Given the description of an element on the screen output the (x, y) to click on. 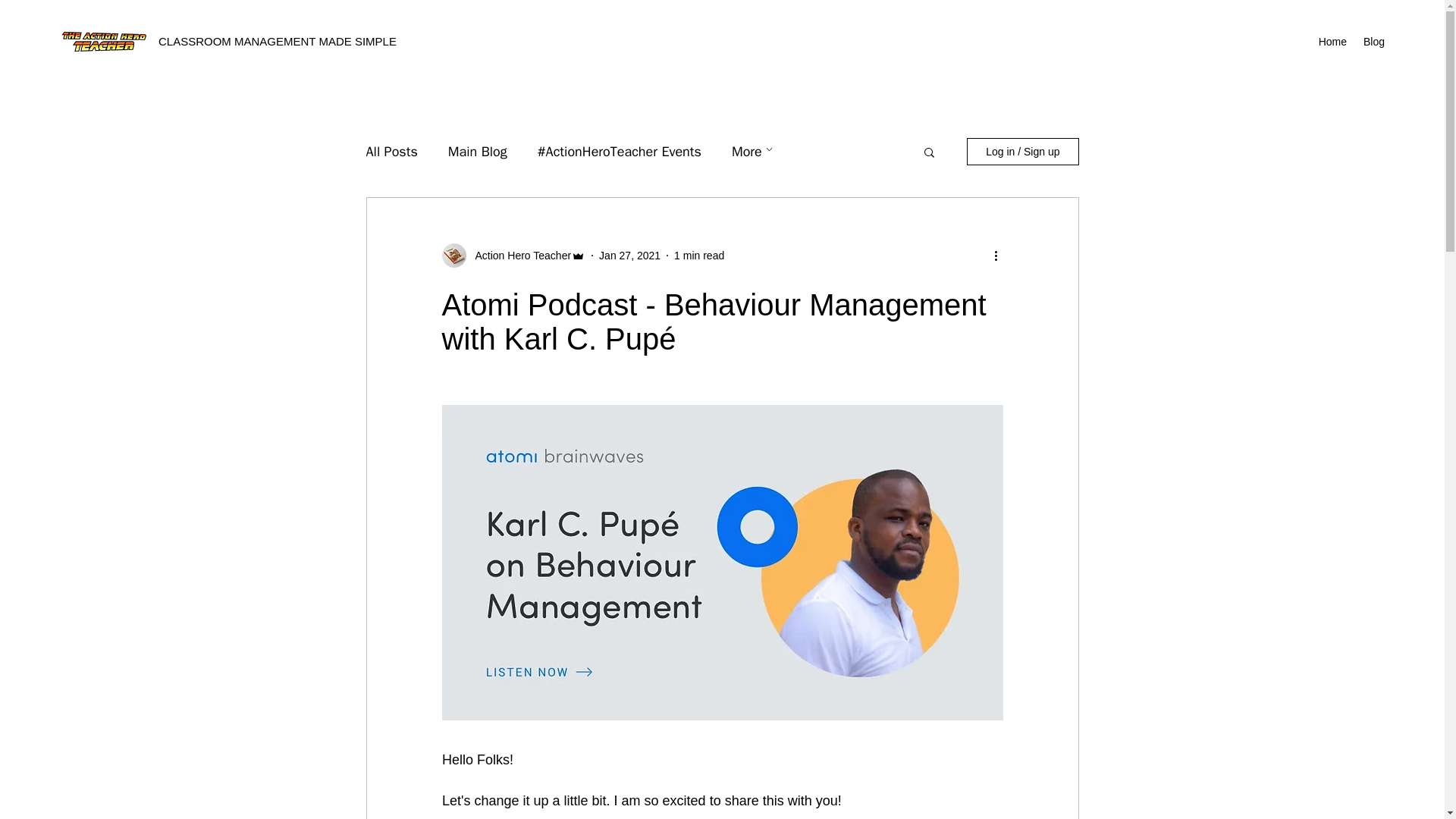
Jan 27, 2021 (629, 254)
Action Hero Teacher (517, 254)
Blog (1372, 41)
All Posts (390, 151)
Main Blog (477, 151)
1 min read (698, 254)
Home (1331, 41)
